Given the description of an element on the screen output the (x, y) to click on. 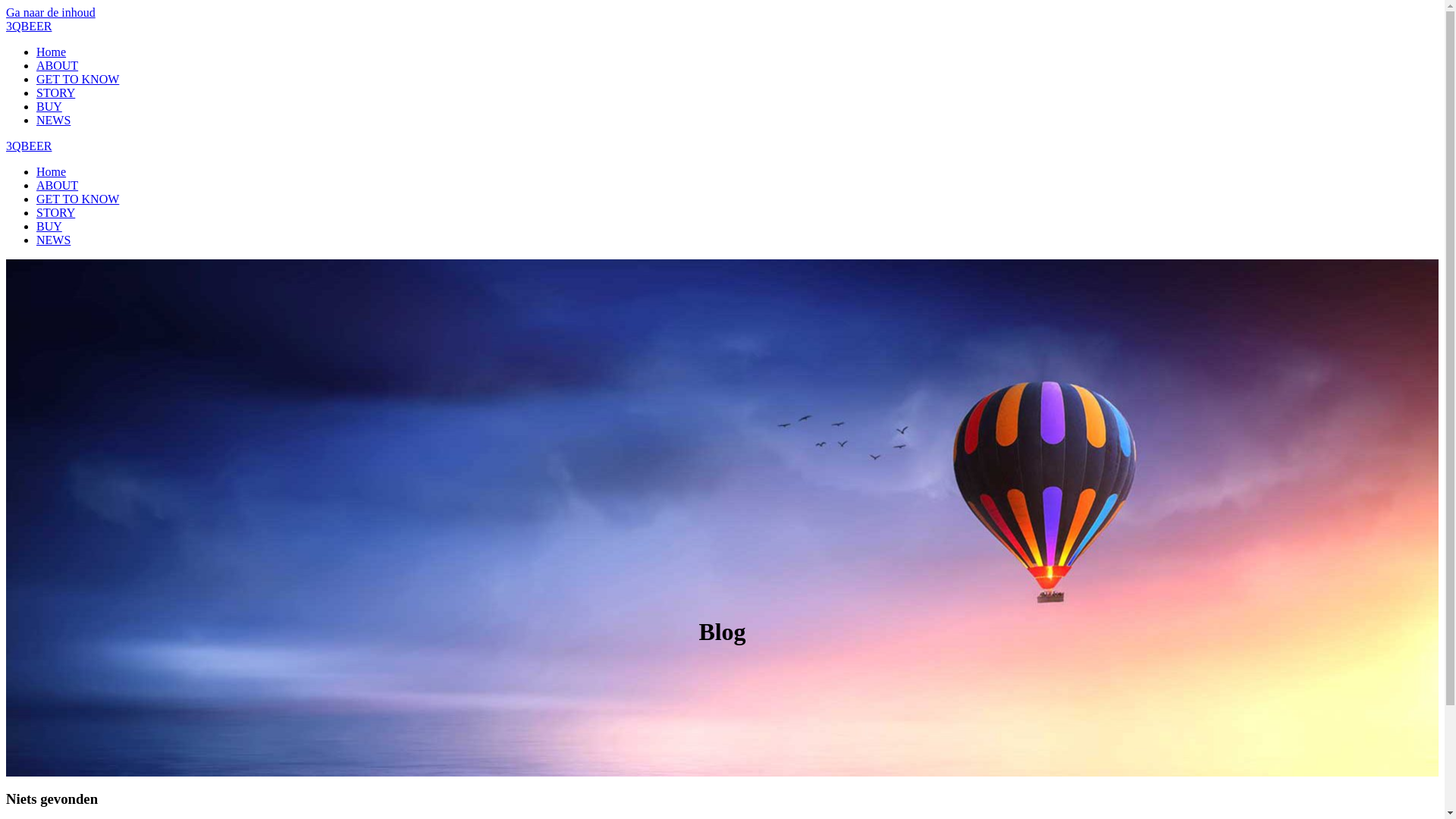
NEWS Element type: text (53, 239)
NEWS Element type: text (53, 119)
GET TO KNOW Element type: text (77, 198)
STORY Element type: text (55, 92)
STORY Element type: text (55, 212)
Ga naar de inhoud Element type: text (50, 12)
BUY Element type: text (49, 225)
BUY Element type: text (49, 106)
3QBEER Element type: text (28, 25)
GET TO KNOW Element type: text (77, 78)
Home Element type: text (50, 171)
3QBEER Element type: text (28, 145)
ABOUT Element type: text (57, 65)
Home Element type: text (50, 51)
ABOUT Element type: text (57, 184)
